Given the description of an element on the screen output the (x, y) to click on. 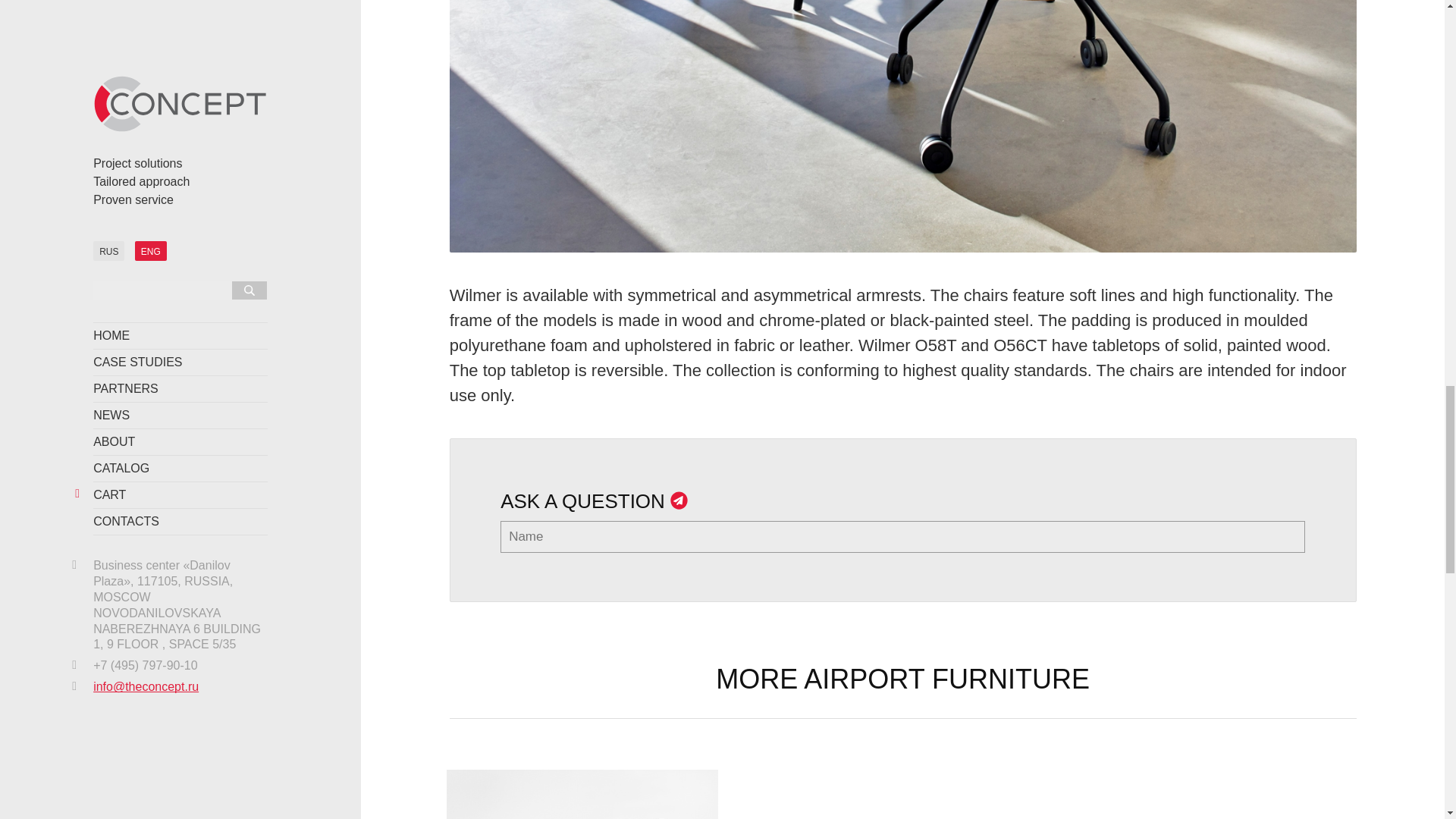
MORE AIRPORT FURNITURE (581, 794)
 Send  (901, 815)
